Given the description of an element on the screen output the (x, y) to click on. 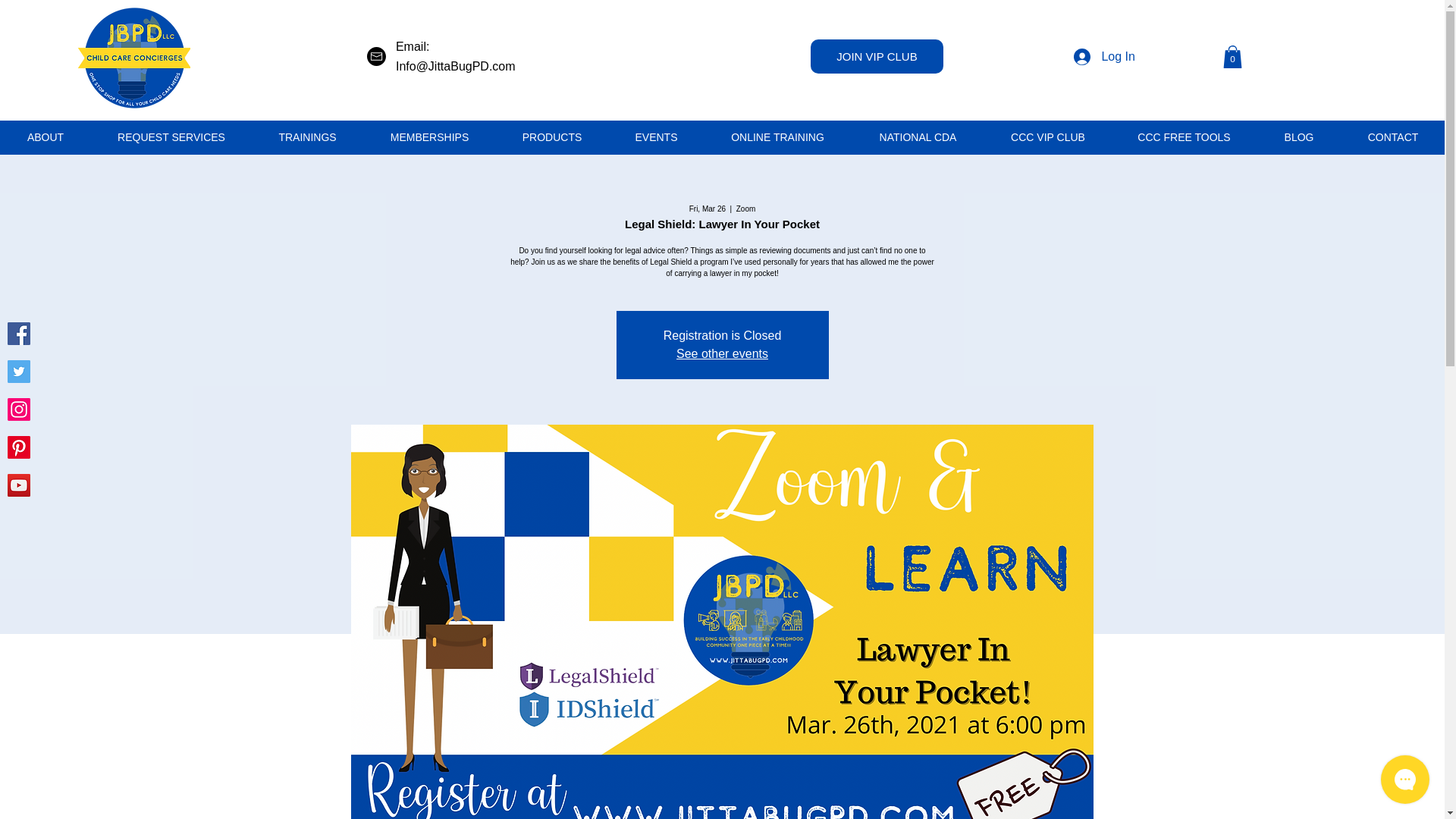
TRAININGS (306, 137)
MEMBERSHIPS (428, 137)
BLOG (1298, 137)
CCC FREE TOOLS (1183, 137)
CCC VIP CLUB (1047, 137)
NATIONAL CDA (917, 137)
Log In (1103, 56)
REQUEST SERVICES (170, 137)
ABOUT (45, 137)
JOIN VIP CLUB (876, 56)
PRODUCTS (551, 137)
ONLINE TRAINING (776, 137)
Email: (412, 46)
EVENTS (655, 137)
